Given the description of an element on the screen output the (x, y) to click on. 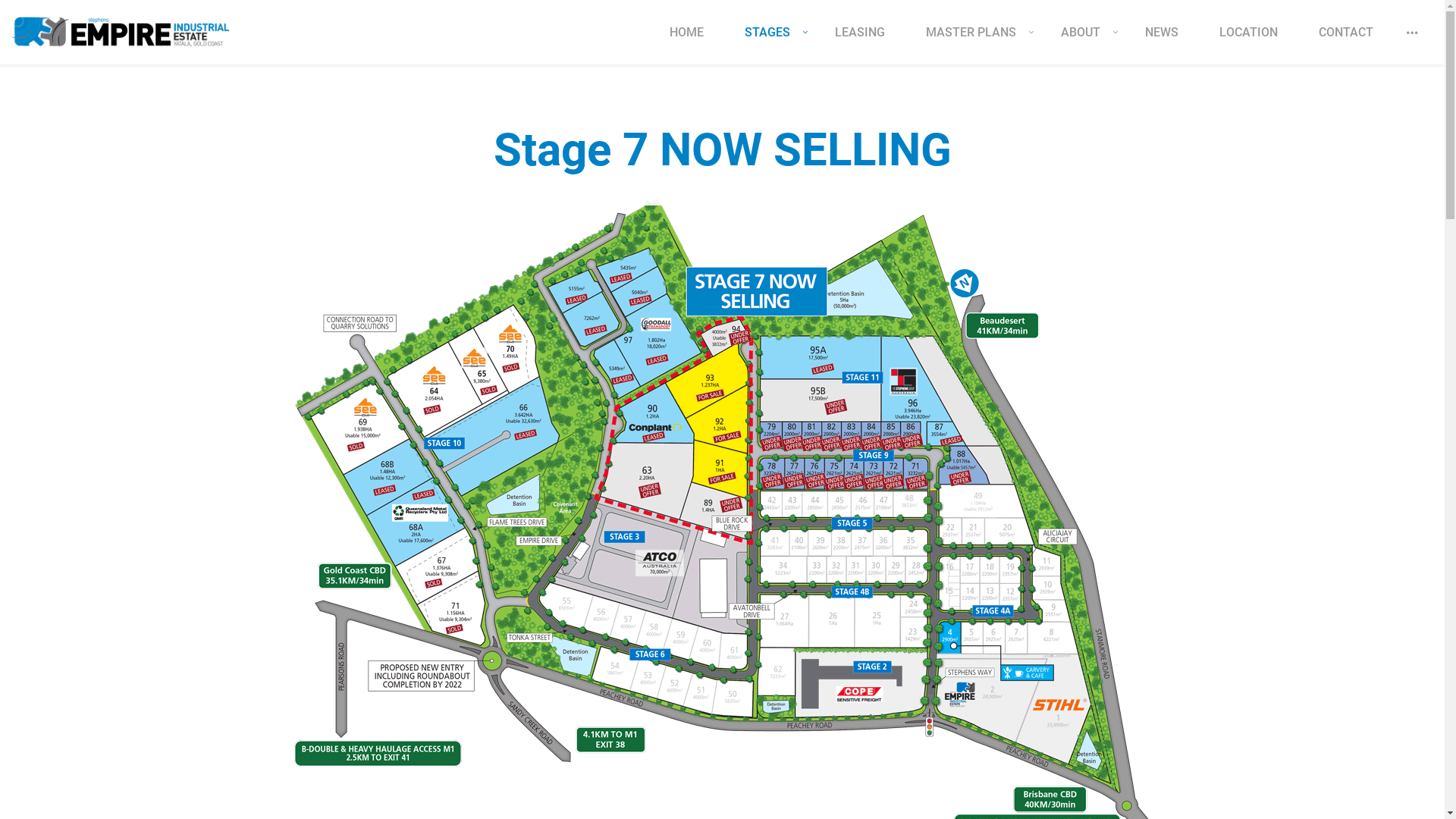
LEASING Element type: text (859, 43)
HOME Element type: text (686, 43)
NEWS Element type: text (1161, 43)
LOCATION Element type: text (1248, 43)
ABOUT Element type: text (1082, 43)
MASTER PLANS Element type: text (972, 43)
STAGES Element type: text (768, 43)
CONTACT Element type: text (1345, 43)
